Given the description of an element on the screen output the (x, y) to click on. 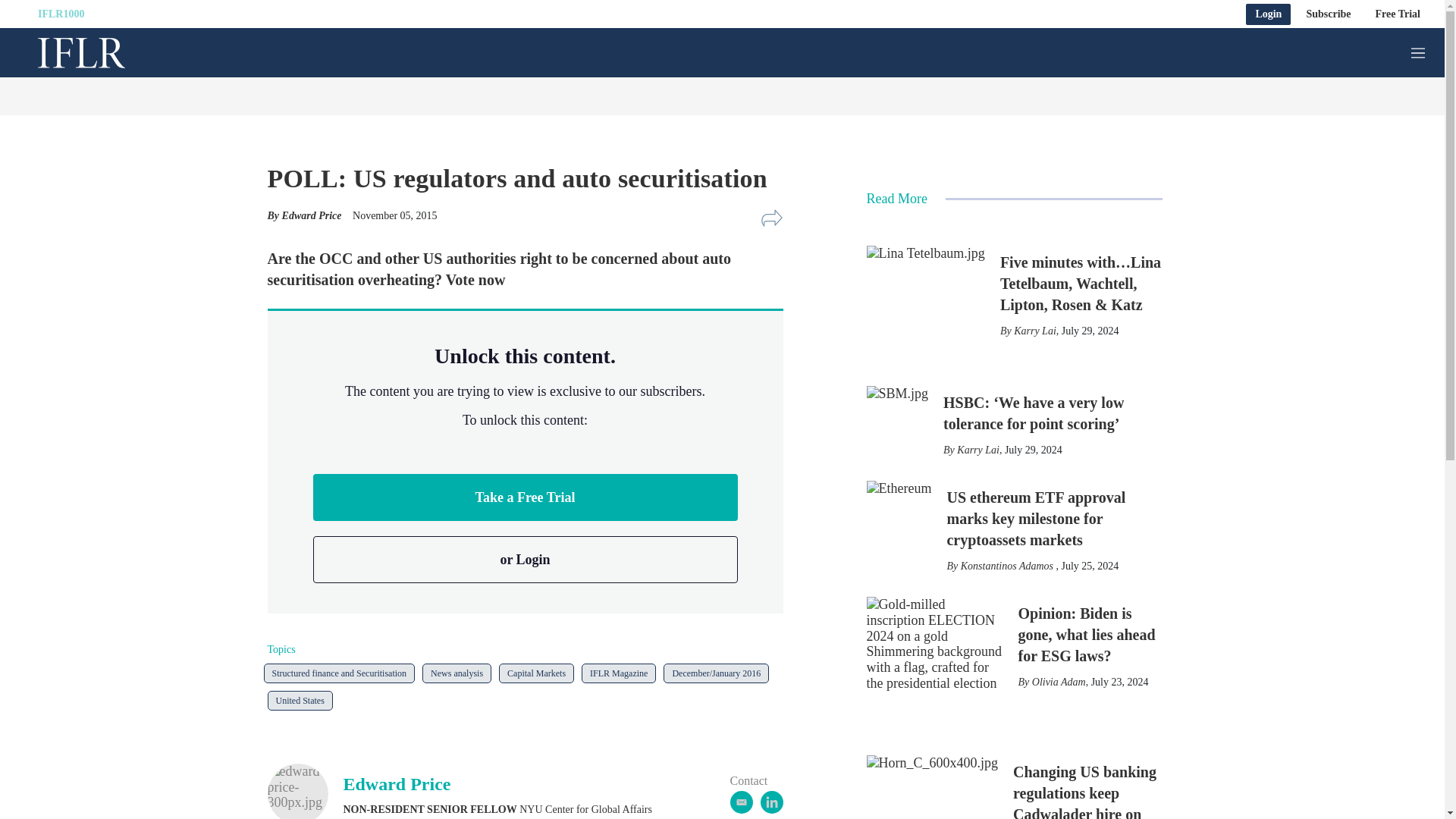
Share (771, 218)
Subscribe (1328, 13)
IFLR1000 (60, 13)
Free Trial (1398, 13)
Login (1268, 13)
